Given the description of an element on the screen output the (x, y) to click on. 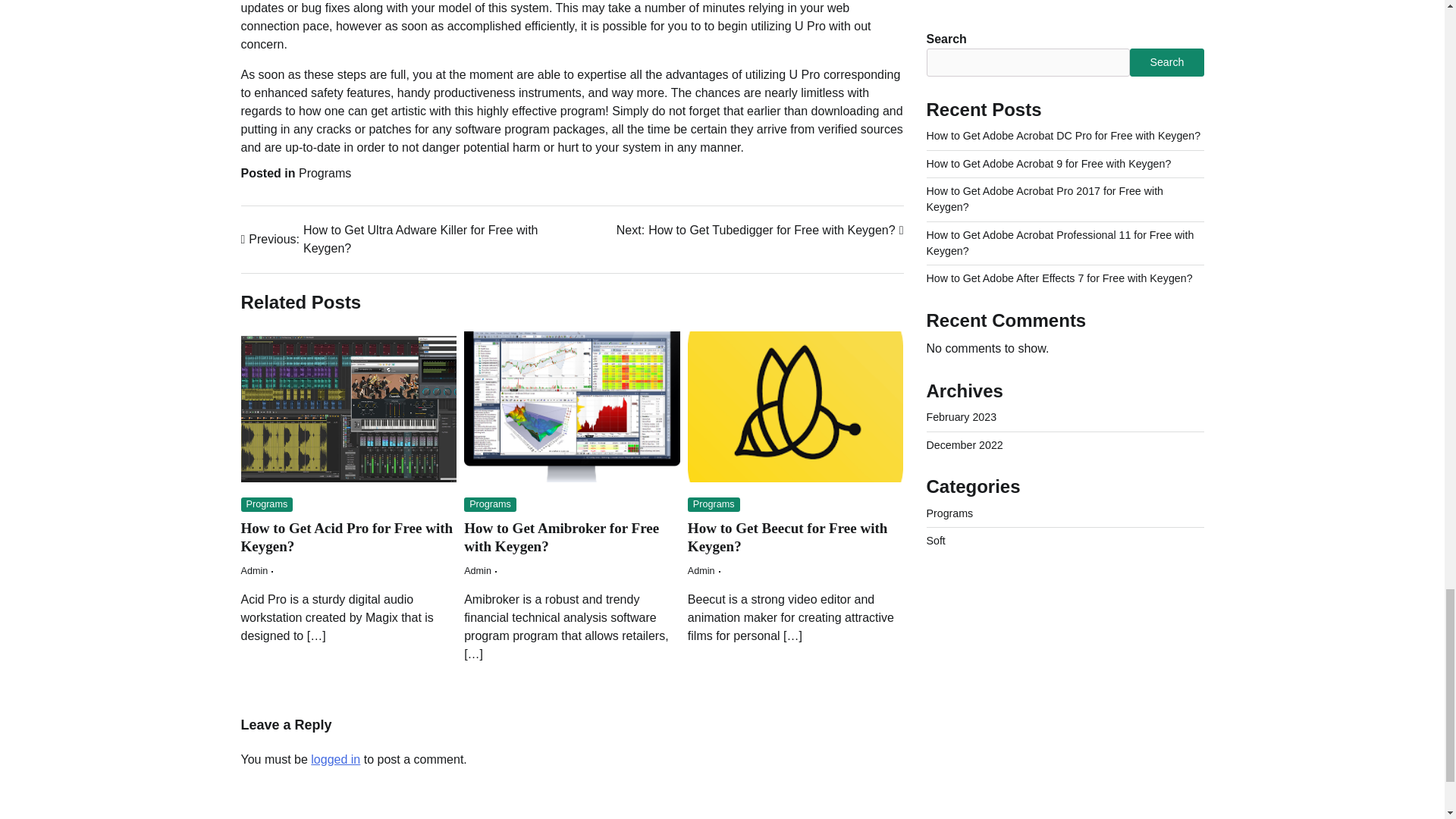
Programs (324, 173)
Admin (700, 570)
How to Get Amibroker for Free with Keygen? (561, 537)
Admin (254, 570)
Admin (478, 570)
Programs (713, 504)
logged in (335, 758)
How to Get Acid Pro for Free with Keygen? (346, 537)
Programs (490, 504)
